Given the description of an element on the screen output the (x, y) to click on. 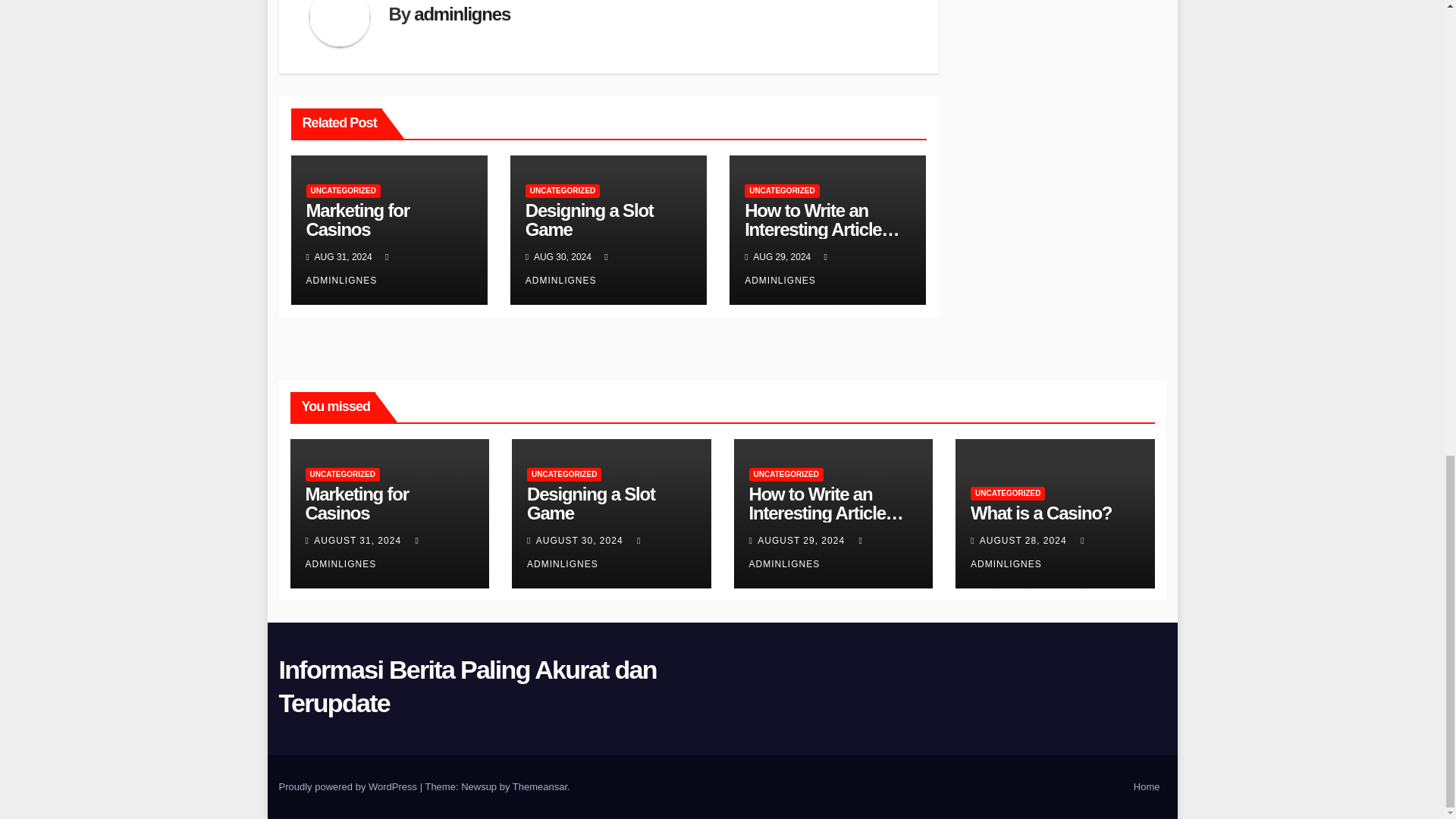
UNCATEGORIZED (342, 191)
Permalink to: Designing a Slot Game (591, 503)
Permalink to: Marketing for Casinos (355, 503)
ADMINLIGNES (349, 268)
Marketing for Casinos (357, 219)
Permalink to: Marketing for Casinos (357, 219)
Permalink to: Designing a Slot Game (589, 219)
Designing a Slot Game (589, 219)
ADMINLIGNES (568, 268)
